Given the description of an element on the screen output the (x, y) to click on. 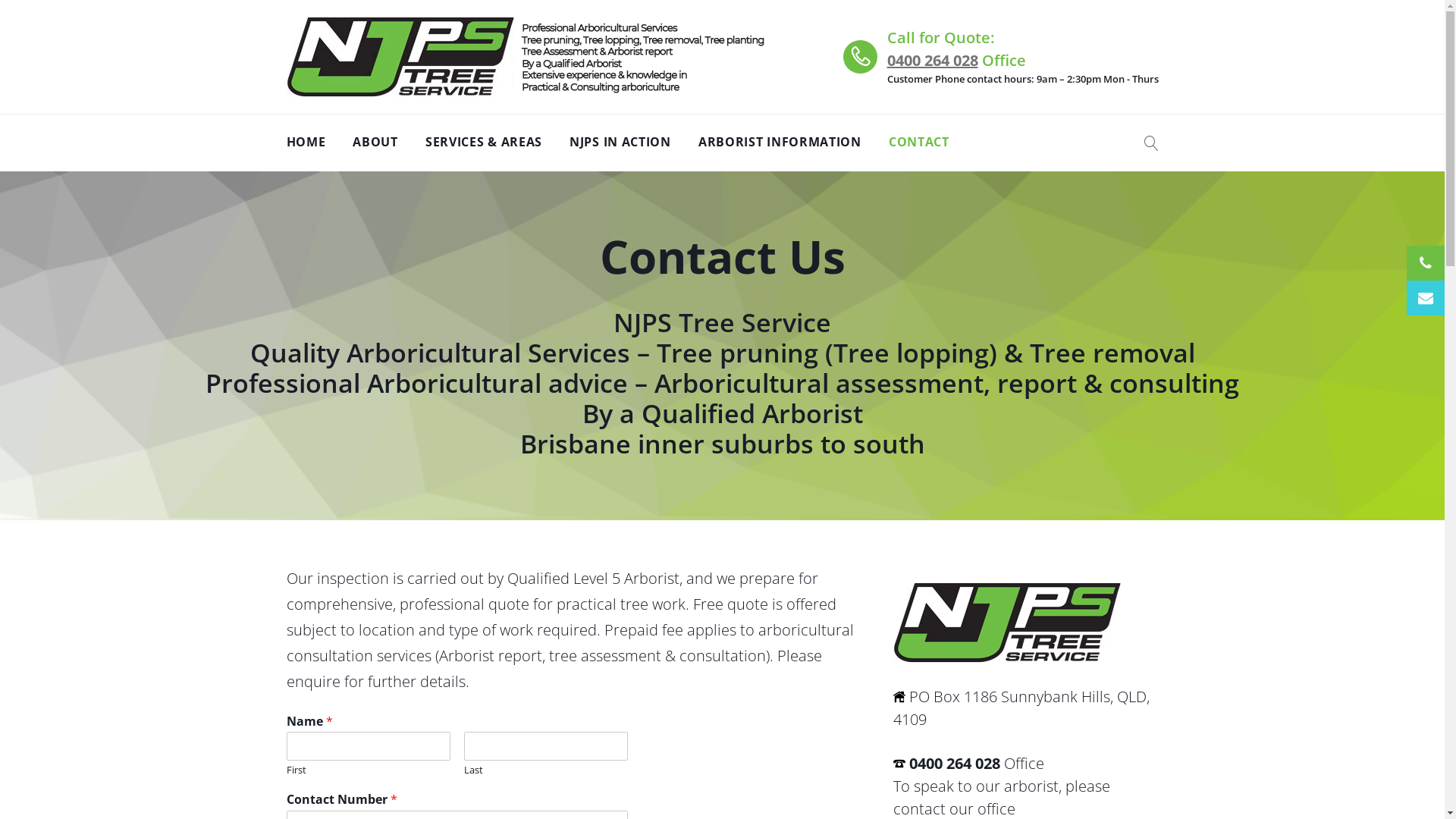
NJPS IN ACTION Element type: text (620, 142)
Skip to content Element type: text (0, 0)
0400 264 028 Element type: text (932, 60)
ABOUT Element type: text (375, 142)
CONTACT Element type: text (918, 142)
ARBORIST INFORMATION Element type: text (779, 142)
HOME Element type: text (306, 142)
0400 264 028 Element type: text (953, 763)
SERVICES & AREAS Element type: text (483, 142)
